Given the description of an element on the screen output the (x, y) to click on. 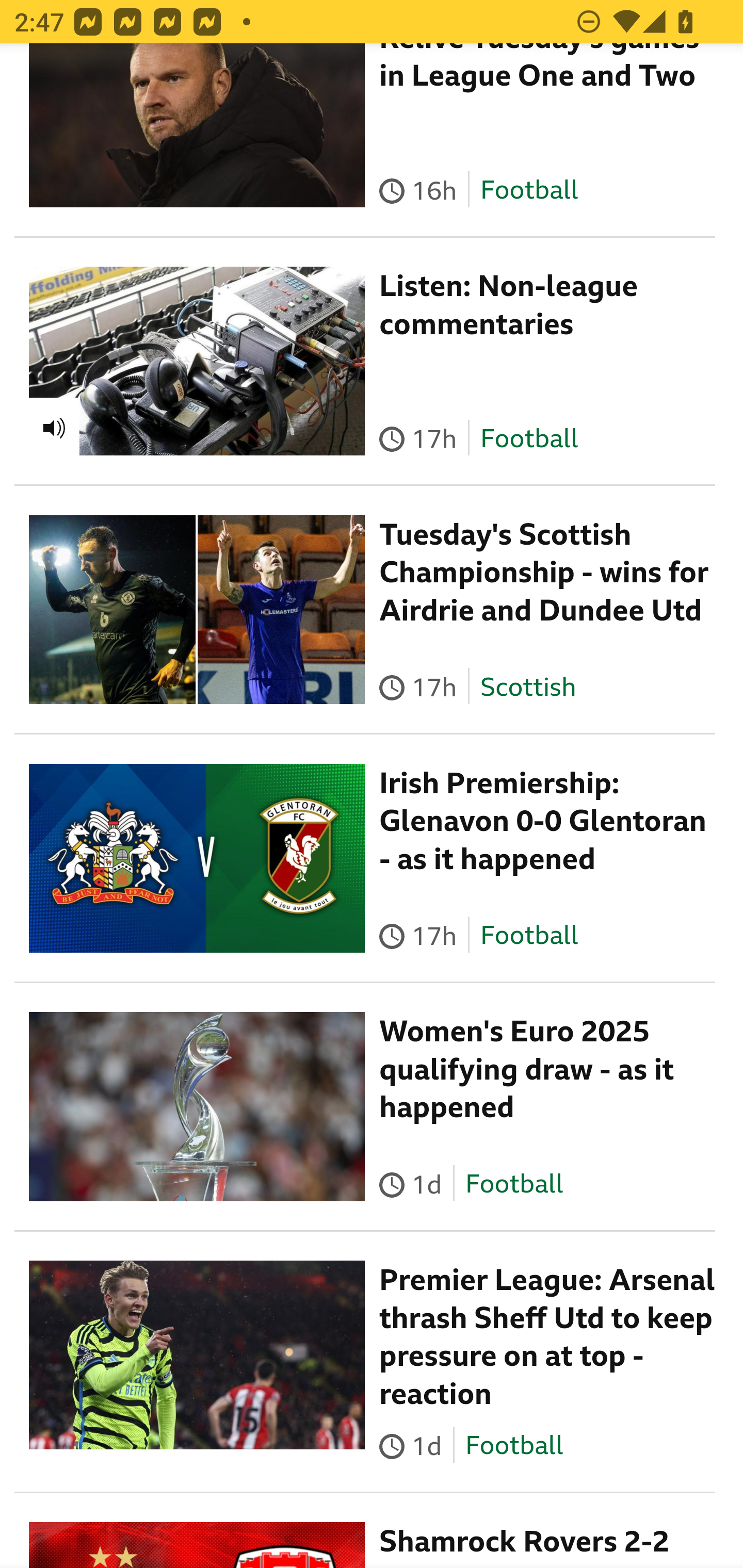
Relive Tuesday's games in League One and Two (539, 69)
Football (528, 190)
Listen: Non-league commentaries (508, 305)
Football (528, 438)
Scottish (528, 687)
Football (528, 936)
Women's Euro 2025 qualifying draw - as it happened (526, 1069)
Football (513, 1185)
Football (513, 1446)
